Given the description of an element on the screen output the (x, y) to click on. 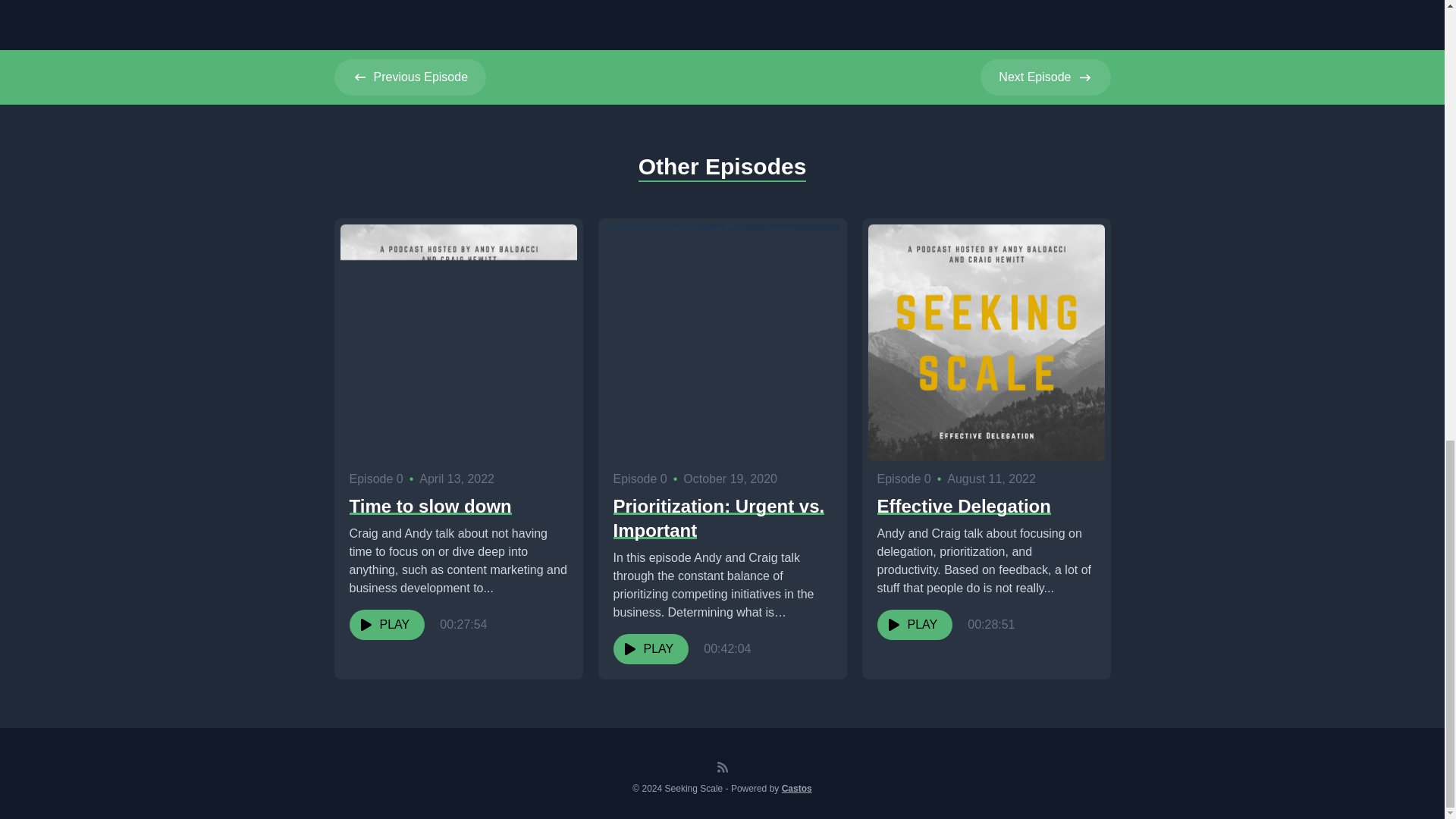
Powered by Castos (409, 76)
